Given the description of an element on the screen output the (x, y) to click on. 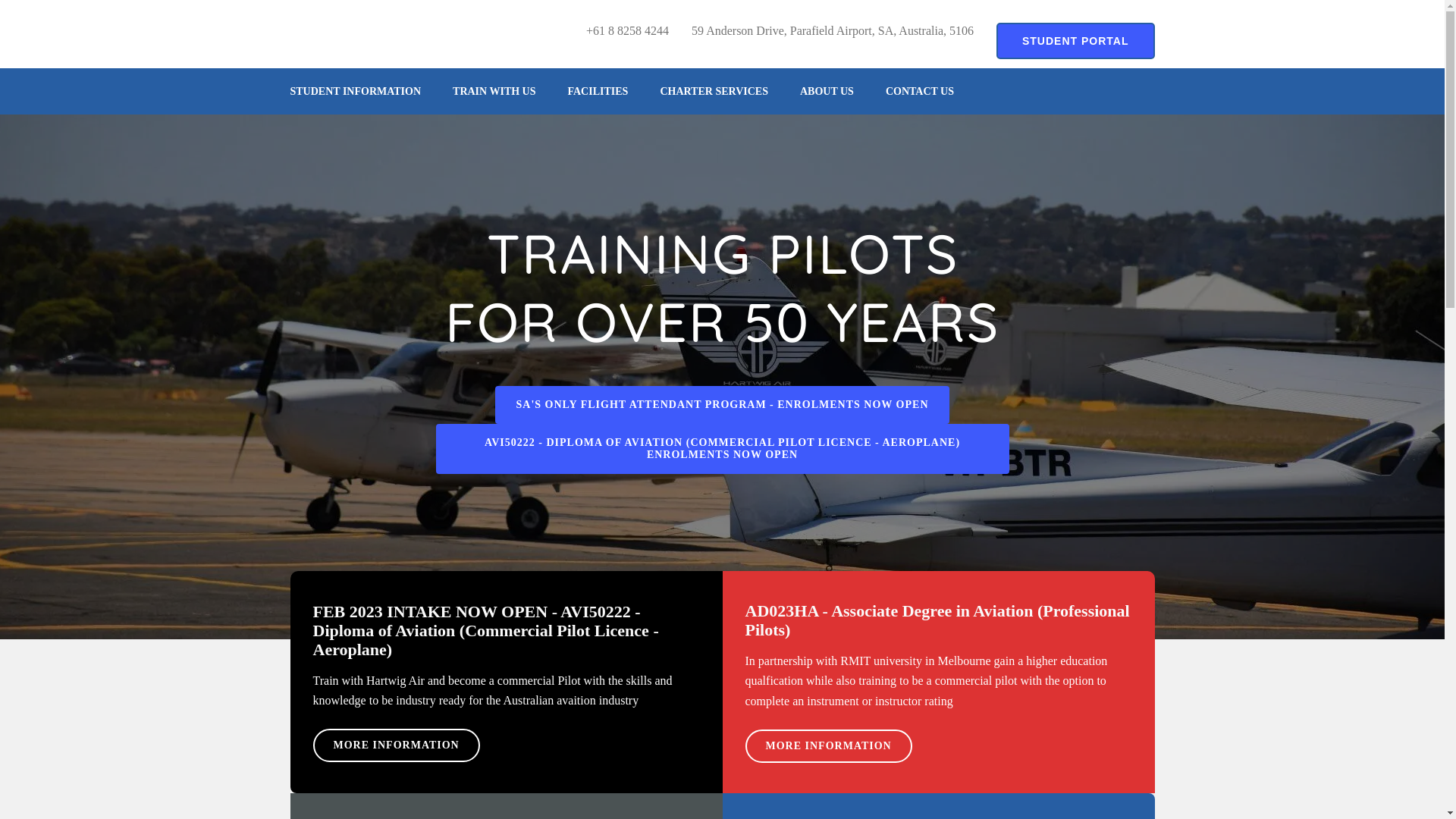
SA'S ONLY FLIGHT ATTENDANT PROGRAM - ENROLMENTS NOW OPEN Element type: text (721, 404)
FACILITIES Element type: text (597, 91)
Hartwig Air Element type: text (352, 28)
CHARTER SERVICES Element type: text (713, 91)
+61 8 8258 4244 Element type: text (627, 30)
STUDENT PORTAL Element type: text (1075, 40)
STUDENT INFORMATION Element type: text (354, 91)
AD023HA - Associate Degree in Aviation (Professional Pilots) Element type: text (936, 620)
MORE INFORMATION Element type: text (395, 745)
ABOUT US Element type: text (826, 91)
CONTACT US Element type: text (919, 91)
MORE INFORMATION Element type: text (827, 745)
TRAIN WITH US Element type: text (493, 91)
